Given the description of an element on the screen output the (x, y) to click on. 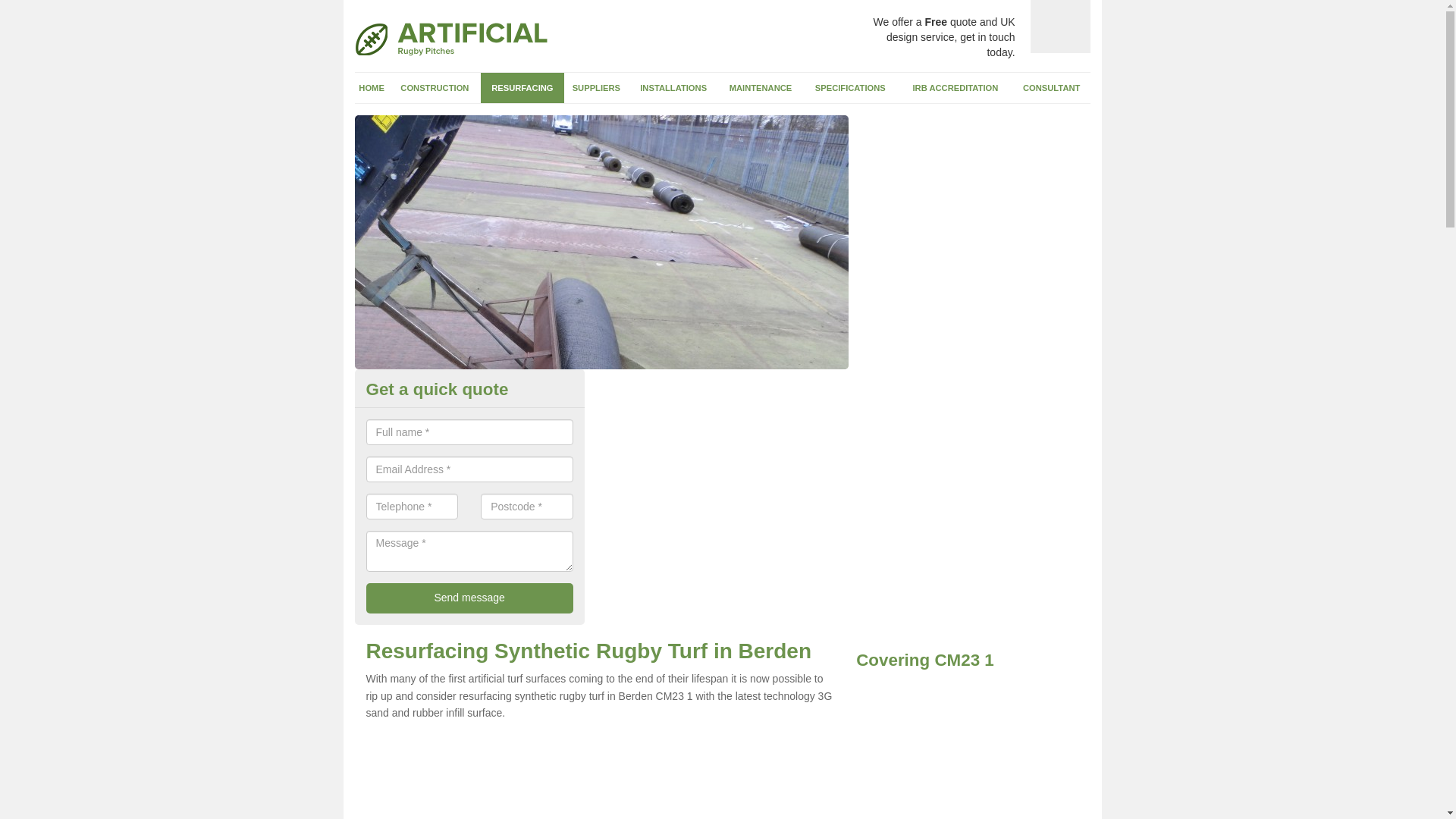
CONSTRUCTION (434, 87)
IRB ACCREDITATION (955, 87)
MAINTENANCE (759, 87)
Header (451, 39)
RESURFACING (522, 87)
HOME (371, 87)
Send message (468, 598)
SUPPLIERS (596, 87)
Send message (468, 598)
INSTALLATIONS (672, 87)
CONSULTANT (1051, 87)
SPECIFICATIONS (850, 87)
